Given the description of an element on the screen output the (x, y) to click on. 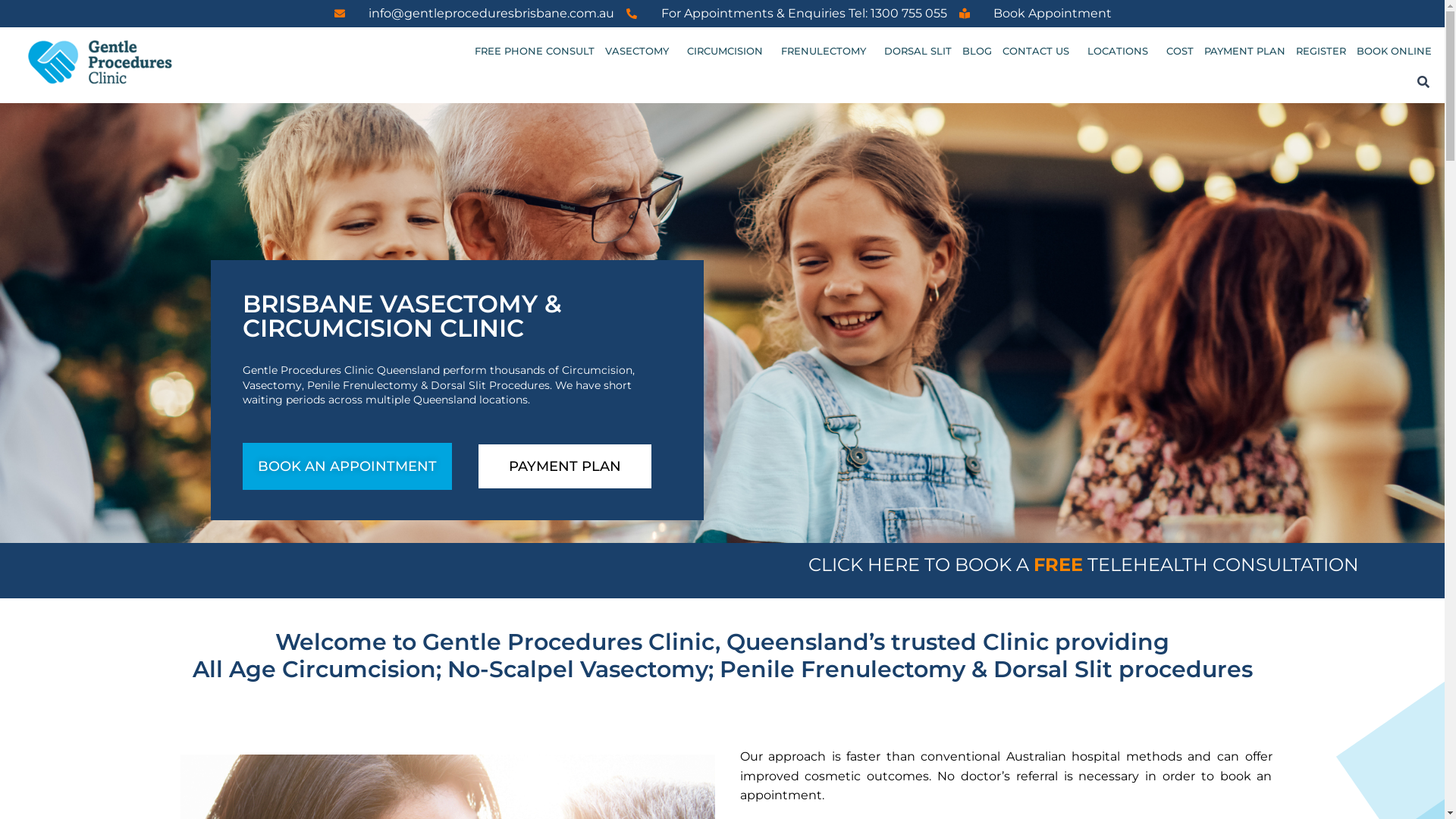
DORSAL SLIT Element type: text (917, 50)
VASECTOMY Element type: text (640, 50)
For Appointments & Enquiries Tel: 1300 755 055 Element type: text (785, 13)
FREE PHONE CONSULT Element type: text (534, 50)
PAYMENT PLAN Element type: text (563, 466)
Book Appointment Element type: text (1034, 13)
FRENULECTOMY Element type: text (826, 50)
BOOK ONLINE Element type: text (1394, 50)
info@gentleproceduresbrisbane.com.au Element type: text (473, 13)
PAYMENT PLAN Element type: text (563, 466)
BLOG Element type: text (977, 50)
COST Element type: text (1179, 50)
PAYMENT PLAN Element type: text (1244, 50)
LOCATIONS Element type: text (1121, 50)
CONTACT US Element type: text (1039, 50)
Search Element type: hover (1429, 81)
CIRCUMCISION Element type: text (728, 50)
REGISTER Element type: text (1320, 50)
BOOK AN APPOINTMENT Element type: text (346, 465)
CLICK HERE TO BOOK A FREE TELEHEALTH CONSULTATION Element type: text (1083, 565)
